Given the description of an element on the screen output the (x, y) to click on. 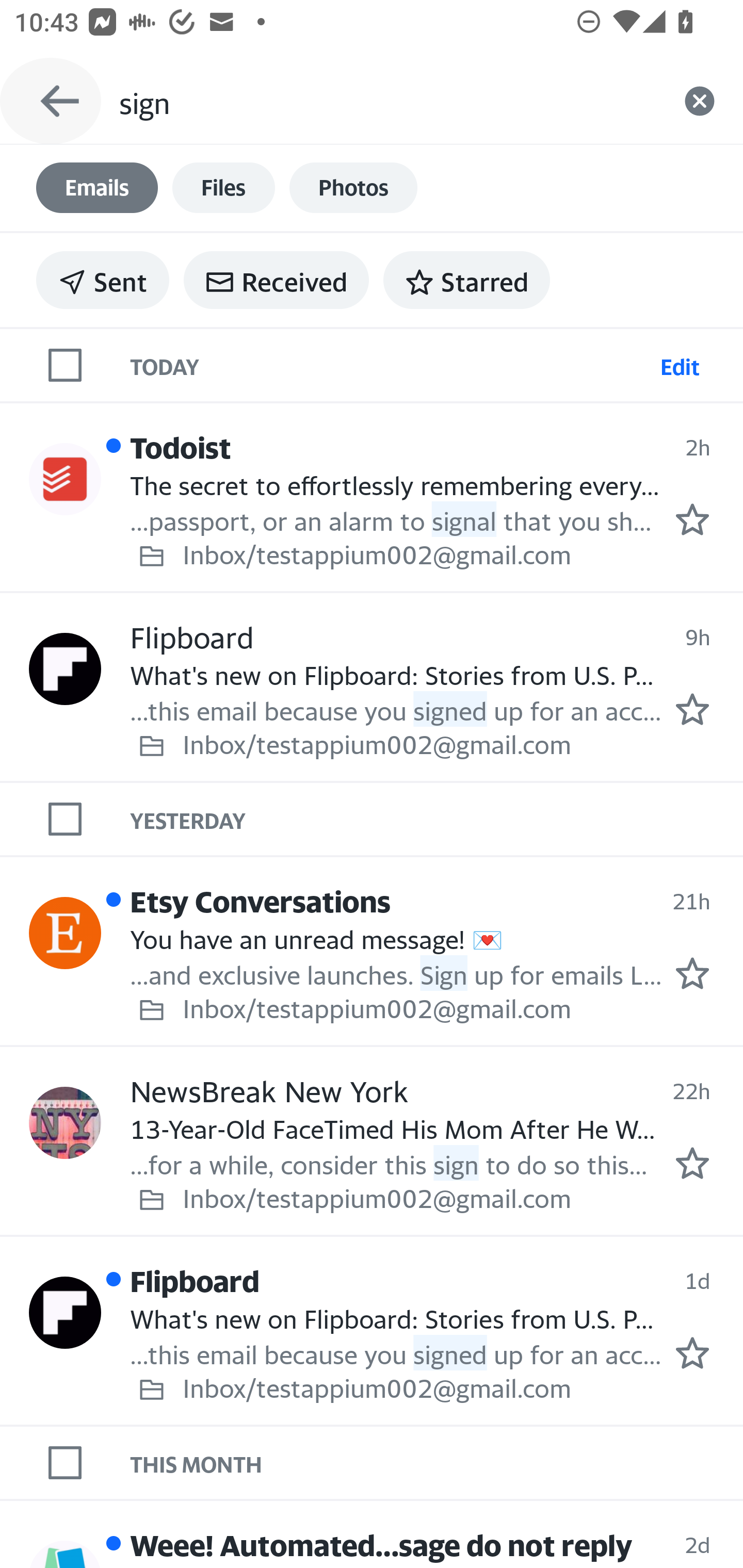
Back (50, 101)
sign (387, 101)
Clear (699, 101)
Emails (96, 188)
Files (223, 188)
Photos (353, 188)
Sent (102, 279)
Received (276, 279)
Starred (466, 279)
TODAY (391, 364)
Edit Select emails (679, 364)
Profile
Todoist (64, 479)
Mark as starred. (692, 519)
Profile
Flipboard (64, 669)
Mark as starred. (692, 709)
YESTERDAY (436, 819)
Profile
Etsy Conversations (64, 932)
Mark as starred. (692, 972)
Profile
NewsBreak New York (64, 1122)
Mark as starred. (692, 1162)
Profile
Flipboard (64, 1312)
Mark as starred. (692, 1352)
THIS MONTH (436, 1461)
